Given the description of an element on the screen output the (x, y) to click on. 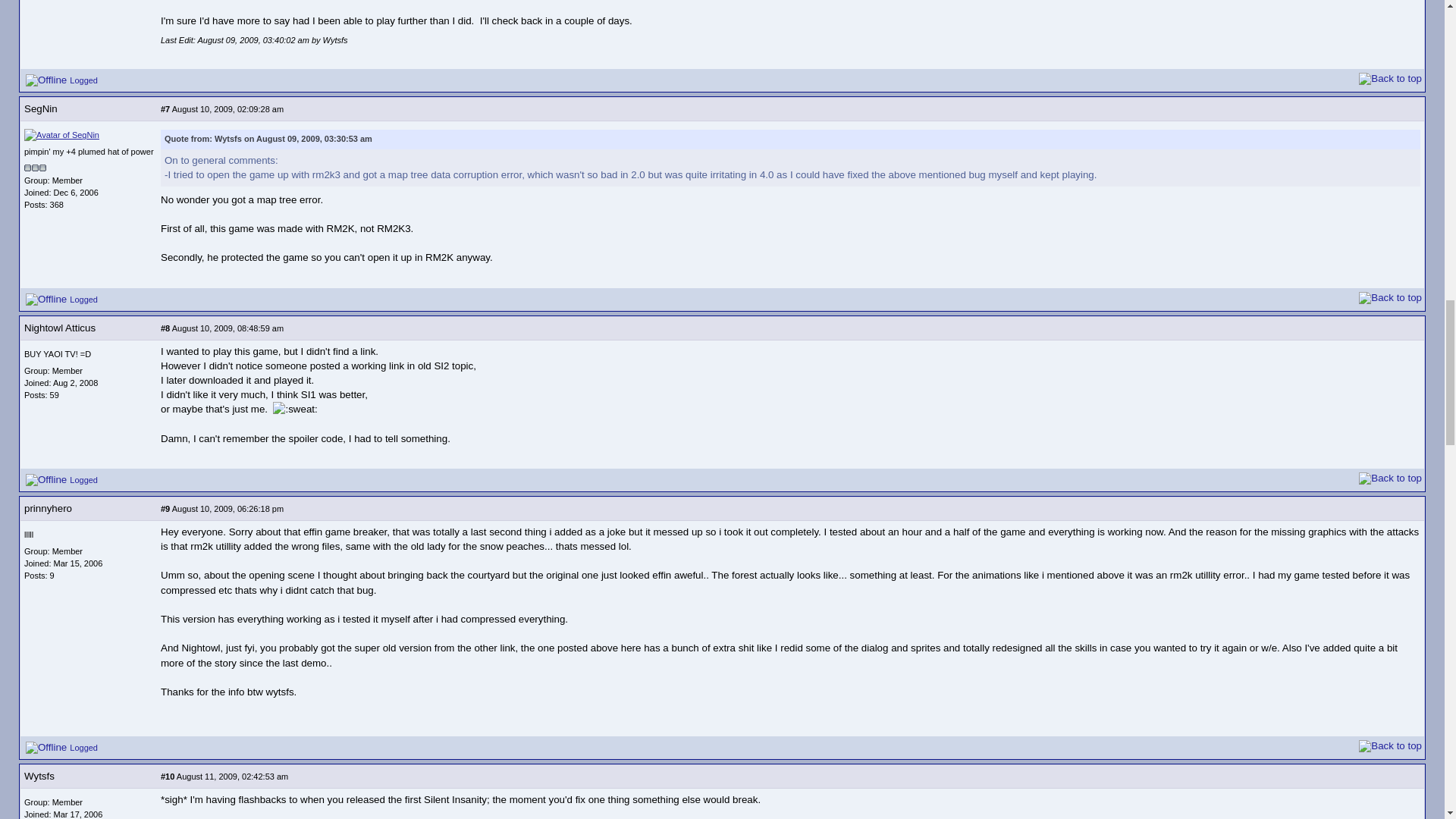
Offline (46, 480)
Sweatdrop (295, 409)
Offline (46, 747)
Offline (46, 299)
Offline (46, 80)
